Given the description of an element on the screen output the (x, y) to click on. 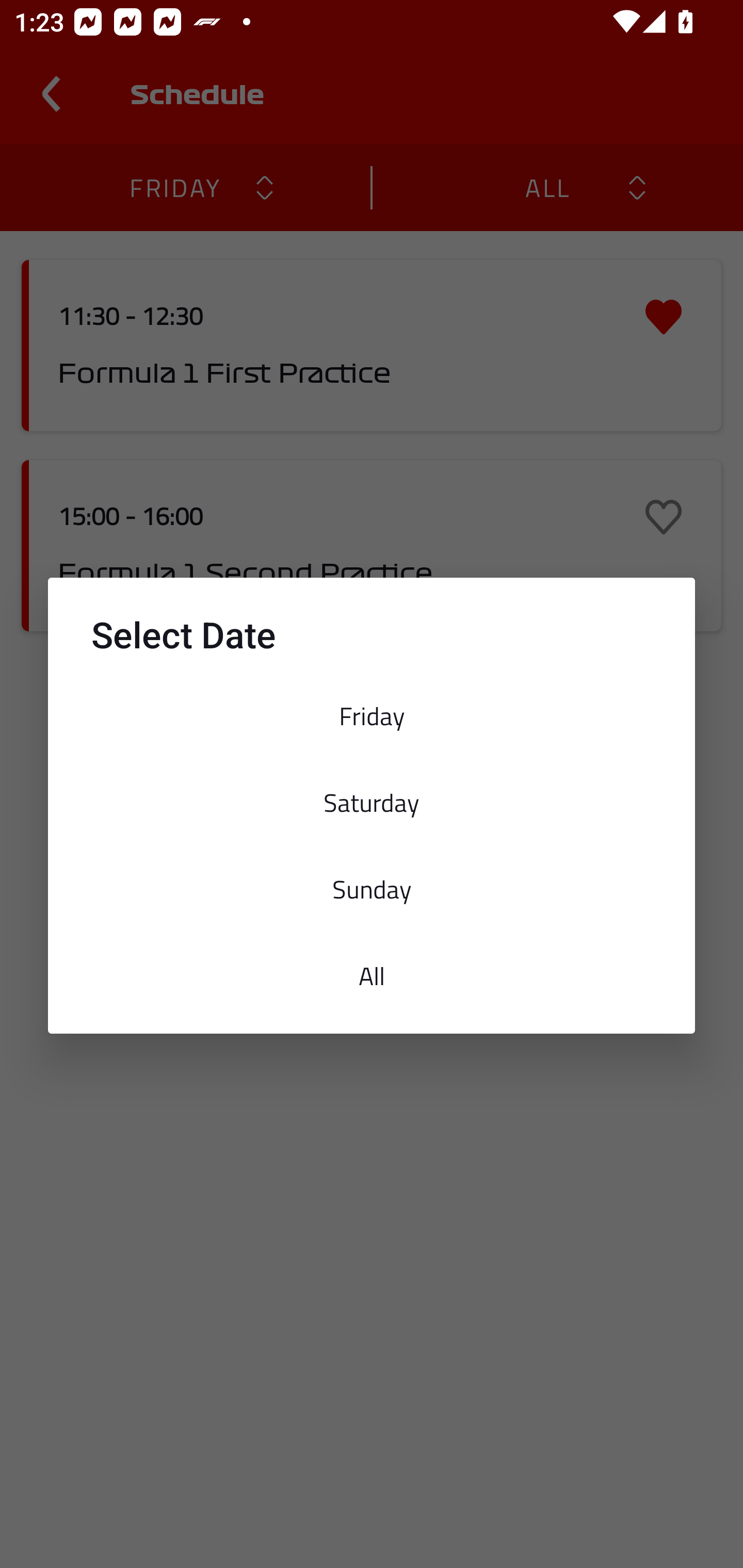
Friday (371, 715)
Saturday (371, 801)
Sunday (371, 888)
All (371, 975)
